Given the description of an element on the screen output the (x, y) to click on. 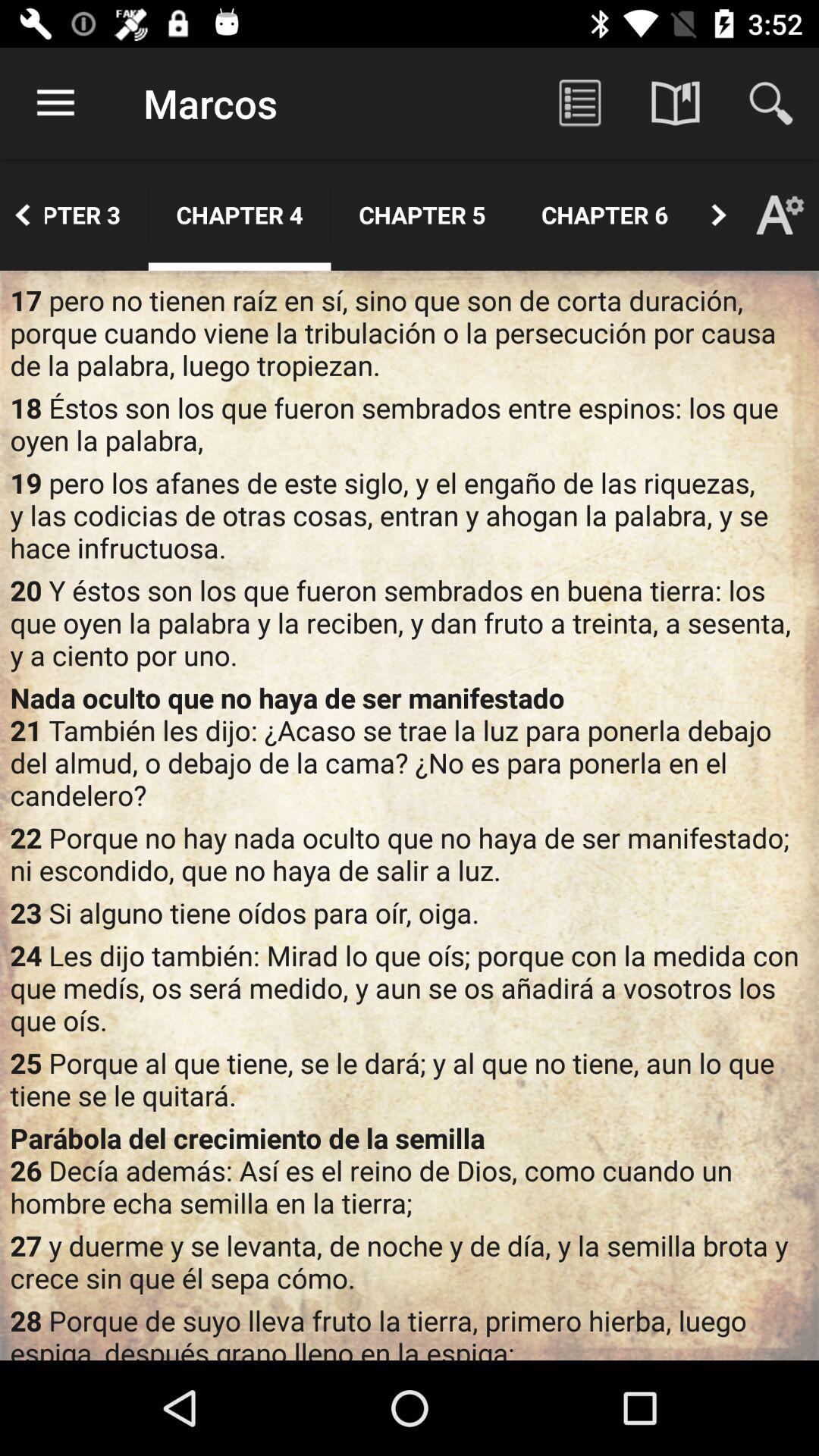
select the icon above 17 pero no icon (22, 214)
